Given the description of an element on the screen output the (x, y) to click on. 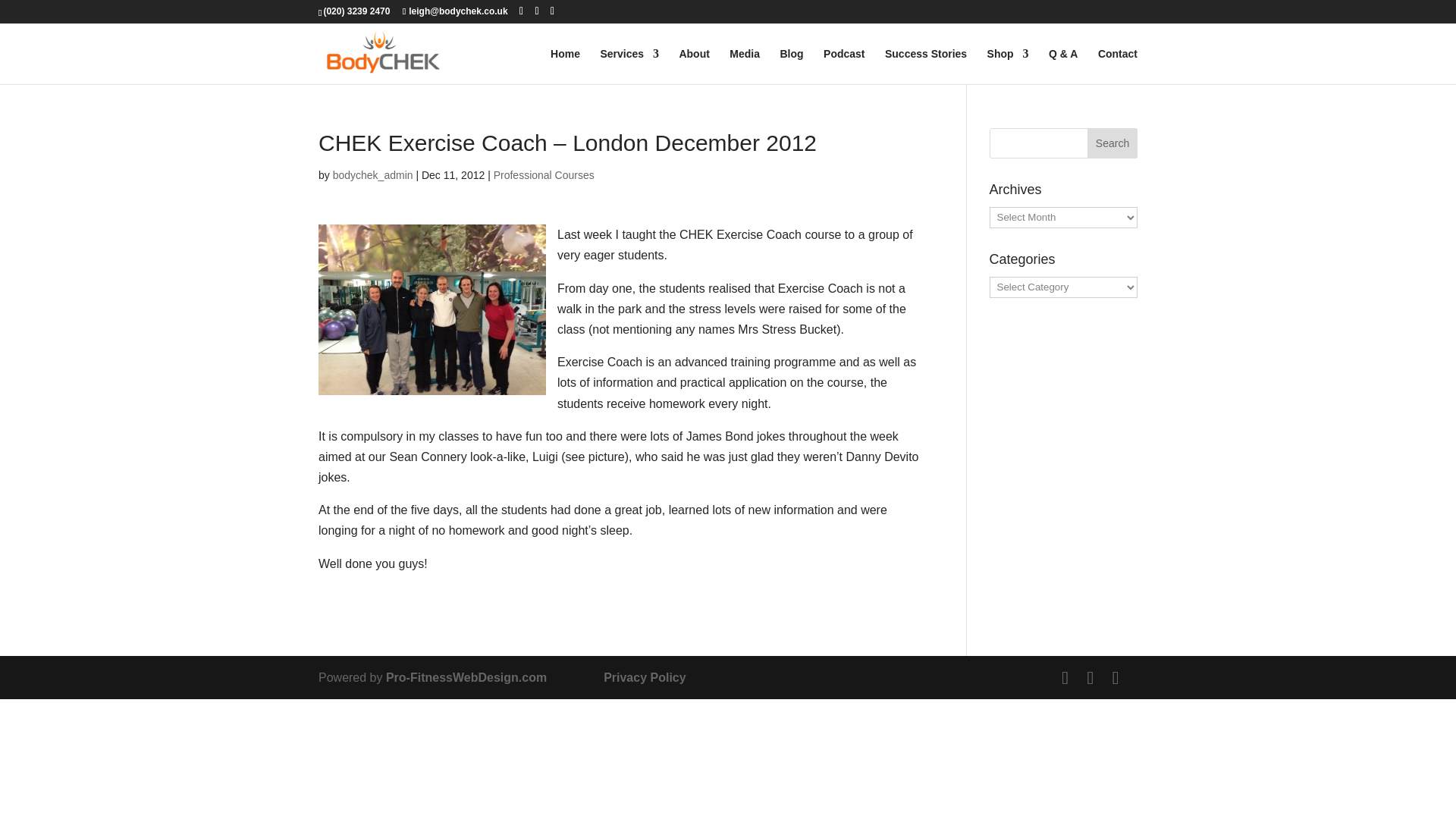
Shop (1008, 66)
Search (1112, 142)
Contact (1117, 66)
Podcast (844, 66)
Success Stories (925, 66)
Fitness Web Design (466, 676)
Services (629, 66)
